Given the description of an element on the screen output the (x, y) to click on. 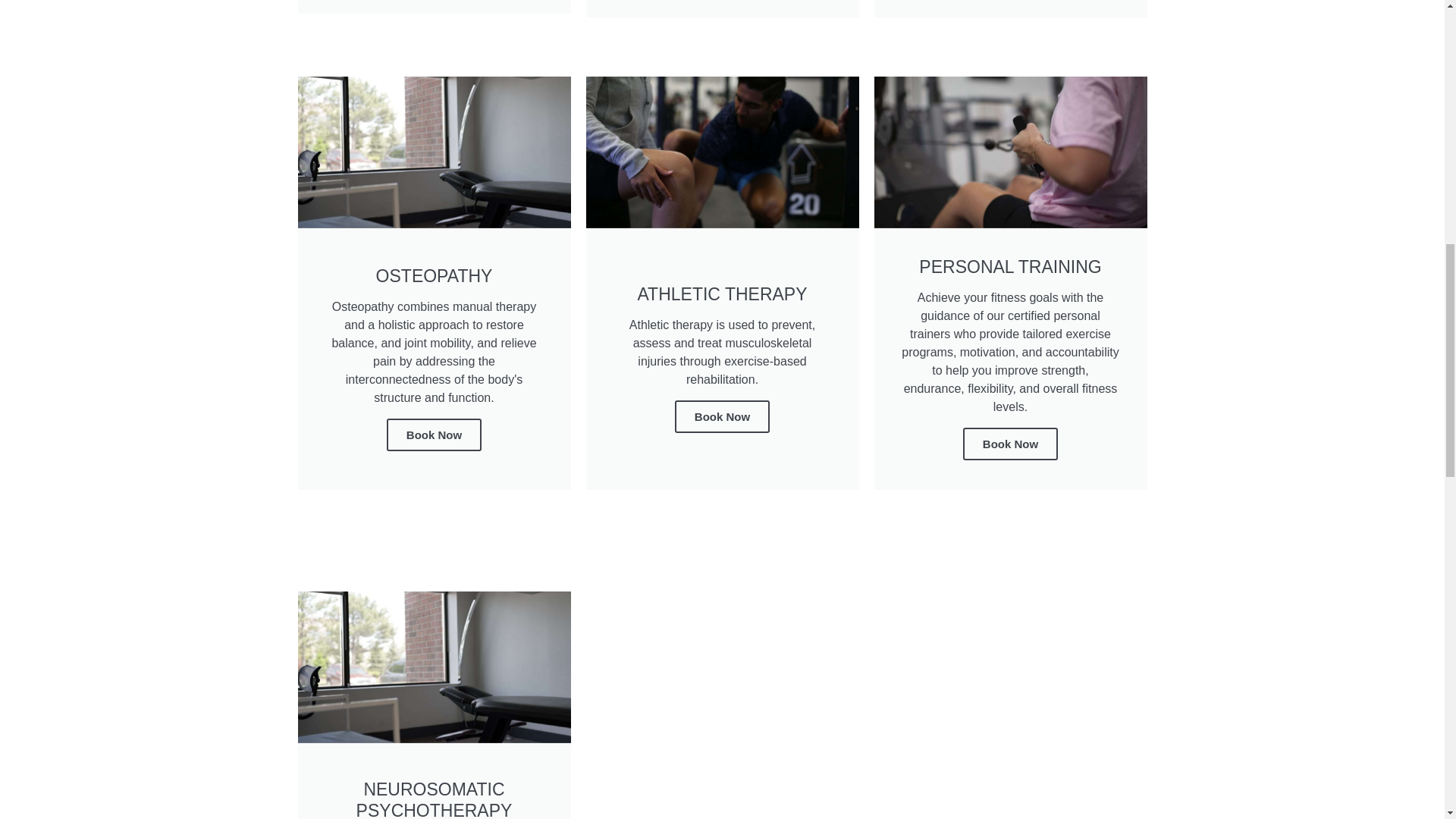
Book Now (434, 434)
Book Now (1010, 443)
Book Now (722, 416)
